Given the description of an element on the screen output the (x, y) to click on. 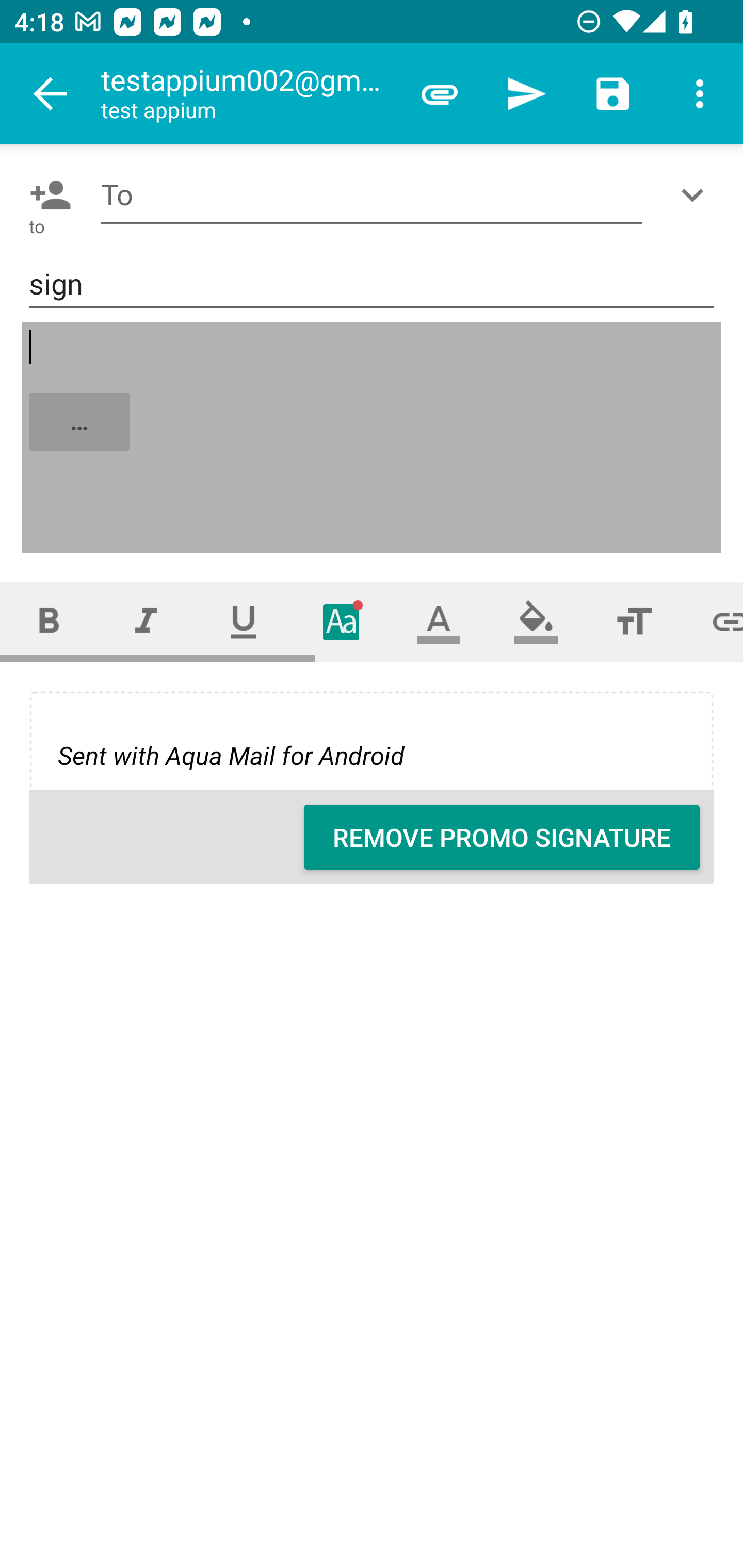
Navigate up (50, 93)
testappium002@gmail.com test appium (248, 93)
Attach (439, 93)
Send (525, 93)
Save (612, 93)
More options (699, 93)
Pick contact: To (46, 195)
Show/Add CC/BCC (696, 195)
To (371, 195)
sign (371, 284)

…
 (372, 438)
Bold (48, 621)
Italic (145, 621)
Underline (243, 621)
Typeface (font) (341, 621)
Text color (438, 621)
Fill color (536, 621)
Font size (633, 621)
REMOVE PROMO SIGNATURE (501, 837)
